Given the description of an element on the screen output the (x, y) to click on. 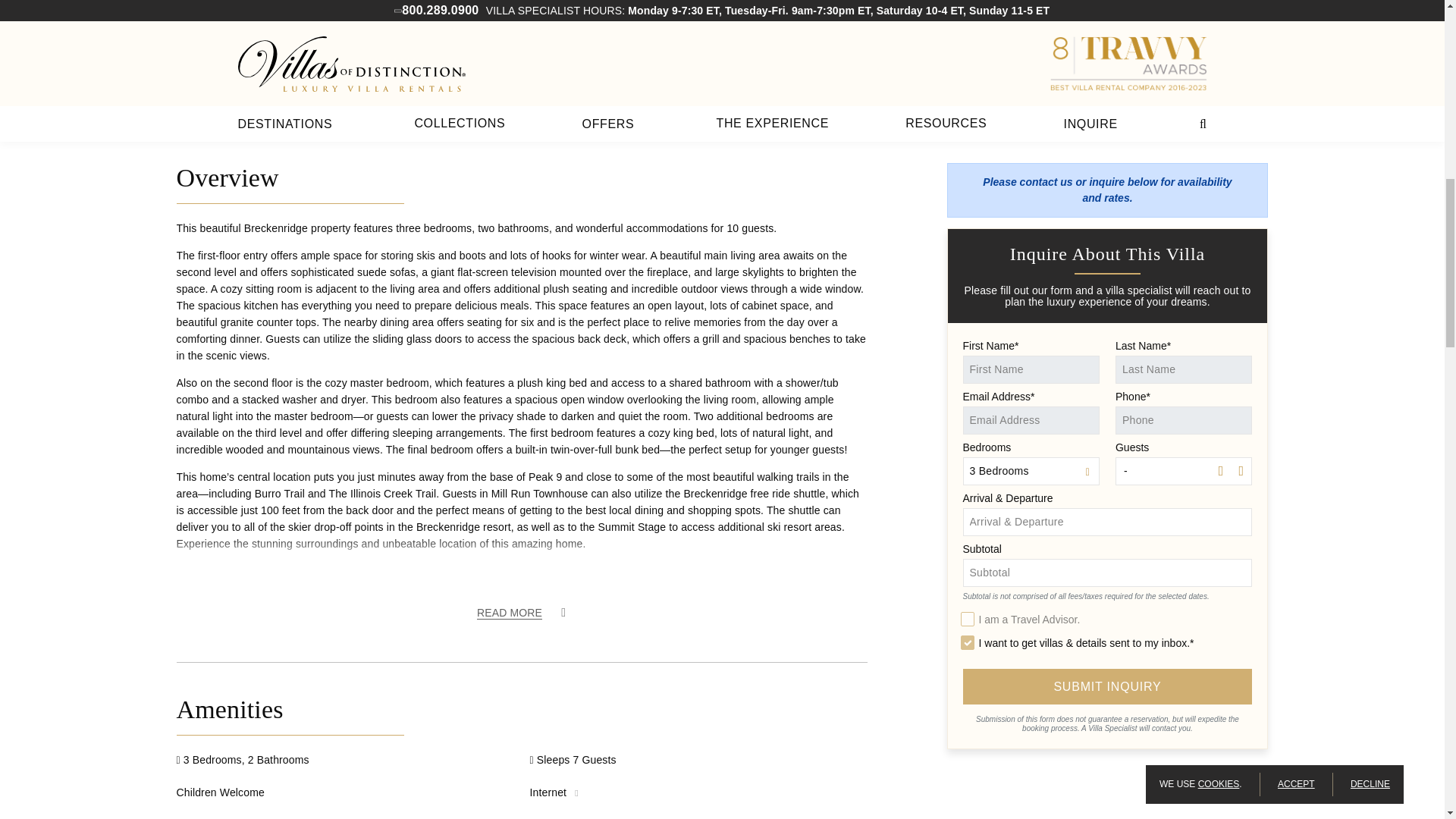
opt-in (966, 642)
1 (966, 618)
